Given the description of an element on the screen output the (x, y) to click on. 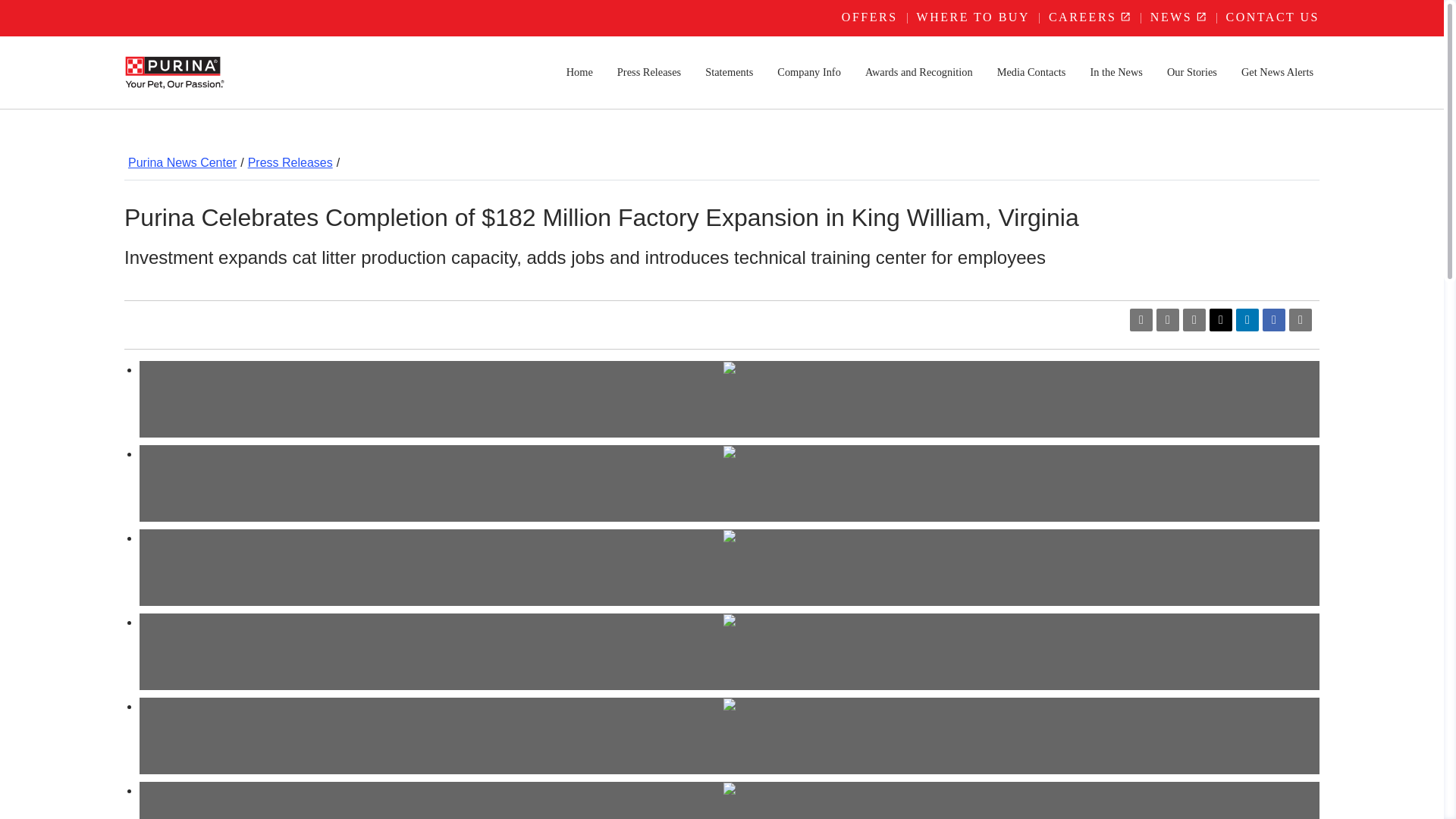
Get News Alerts (1276, 72)
Facebook Share (1273, 319)
OFFERS (869, 17)
Company Info (809, 72)
rss (1167, 319)
In the News (1115, 72)
Media Contacts (1031, 72)
Statements (728, 72)
Linkedin Share (1247, 319)
CONTACT US (1272, 17)
email (1193, 319)
Home (579, 72)
print (1299, 319)
WHERE TO BUY (973, 17)
